Given the description of an element on the screen output the (x, y) to click on. 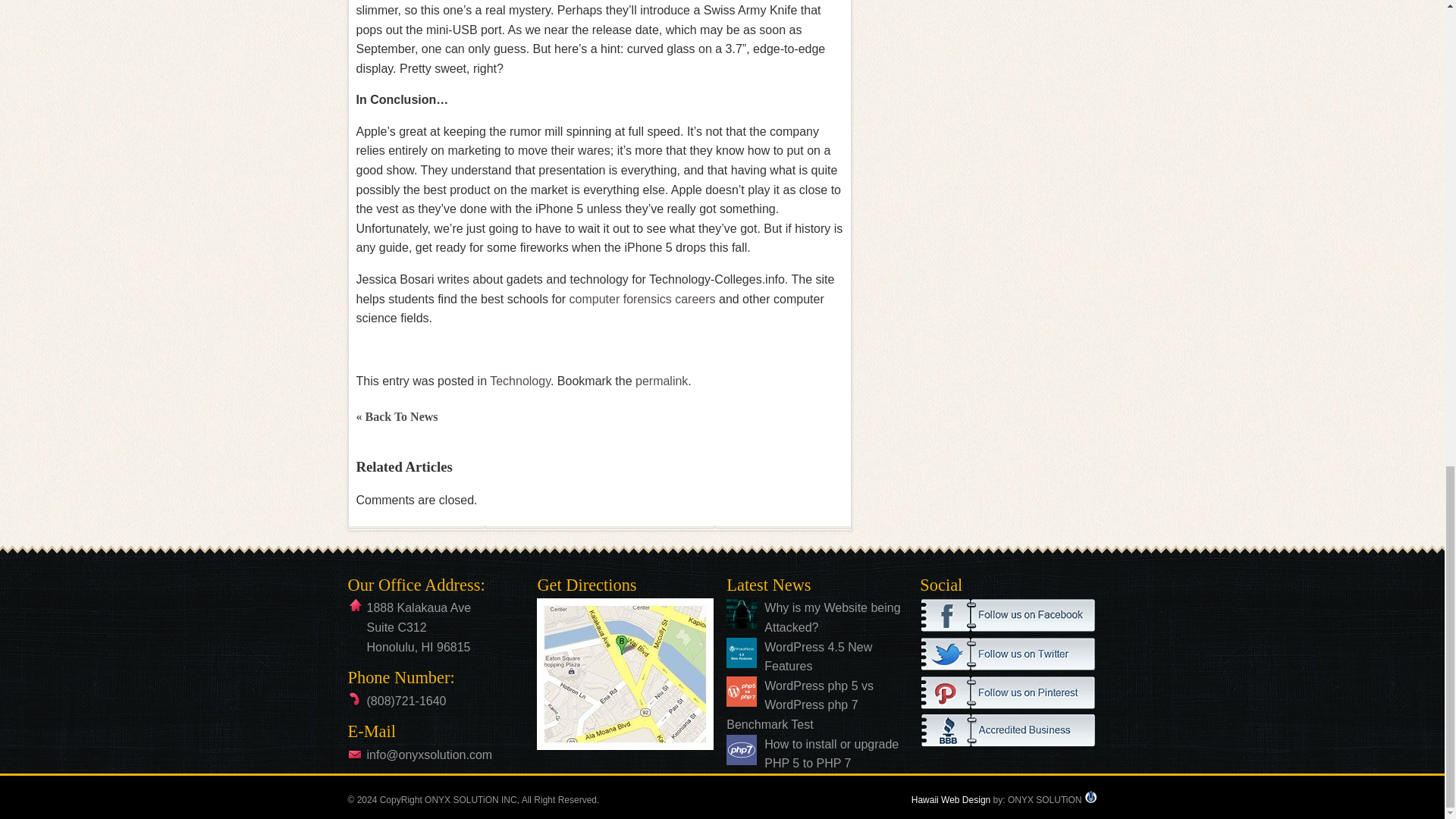
permalink (660, 380)
WordPress 4.5 New Features (818, 656)
How to install or upgrade PHP 5 to PHP 7 (831, 753)
Why is my Website being Attacked? (831, 617)
WordPress php 5 vs WordPress php 7 Benchmark Test (799, 705)
computer forensics careers (642, 298)
Technology (519, 380)
Hawaii Web Design (951, 799)
